Given the description of an element on the screen output the (x, y) to click on. 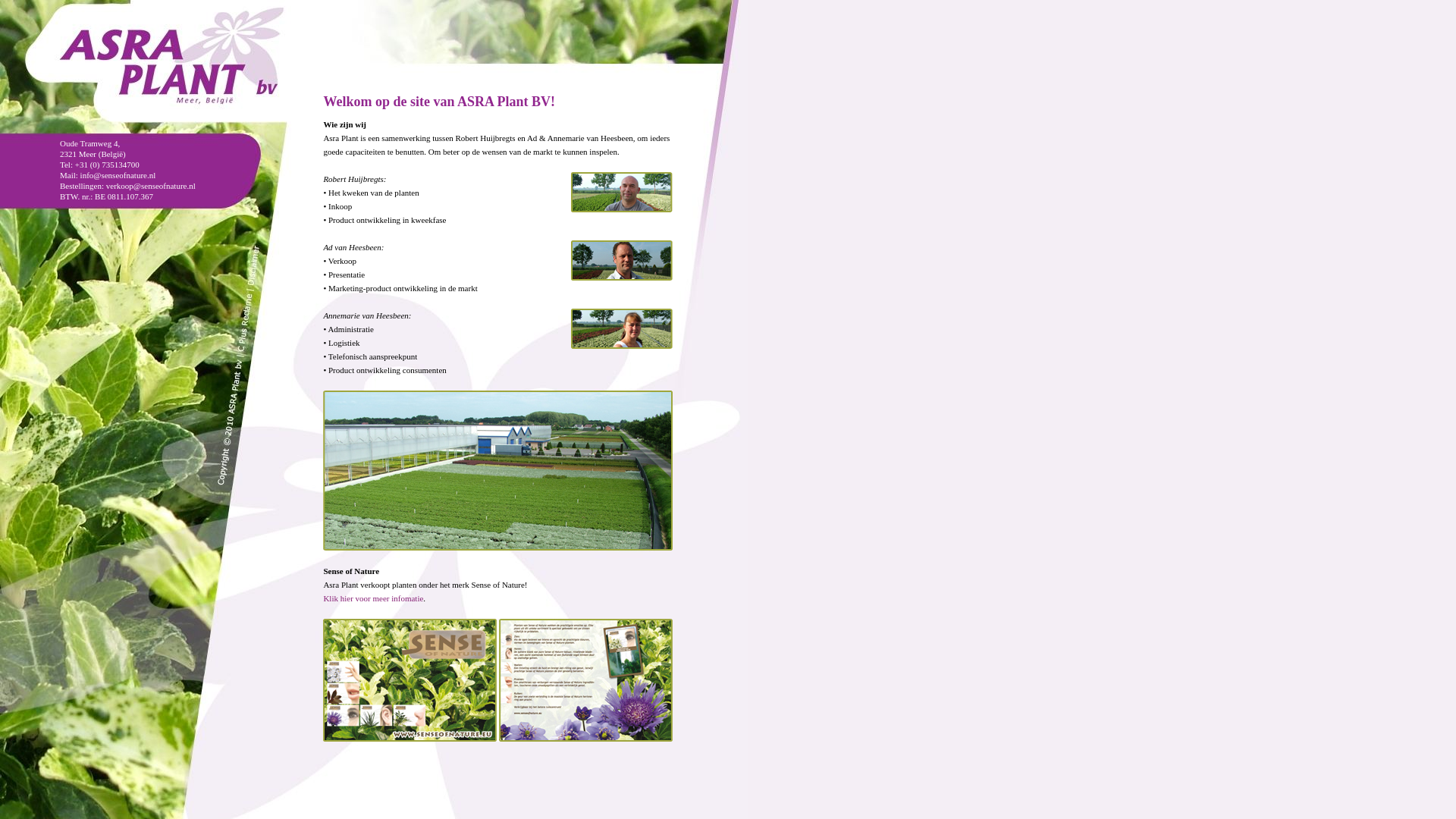
+31 (0) 735134700 Element type: text (107, 164)
verkoop@senseofnature.nl Element type: text (150, 185)
info@senseofnature.nl Element type: text (118, 174)
Klik hier voor meer infomatie Element type: text (373, 597)
